Given the description of an element on the screen output the (x, y) to click on. 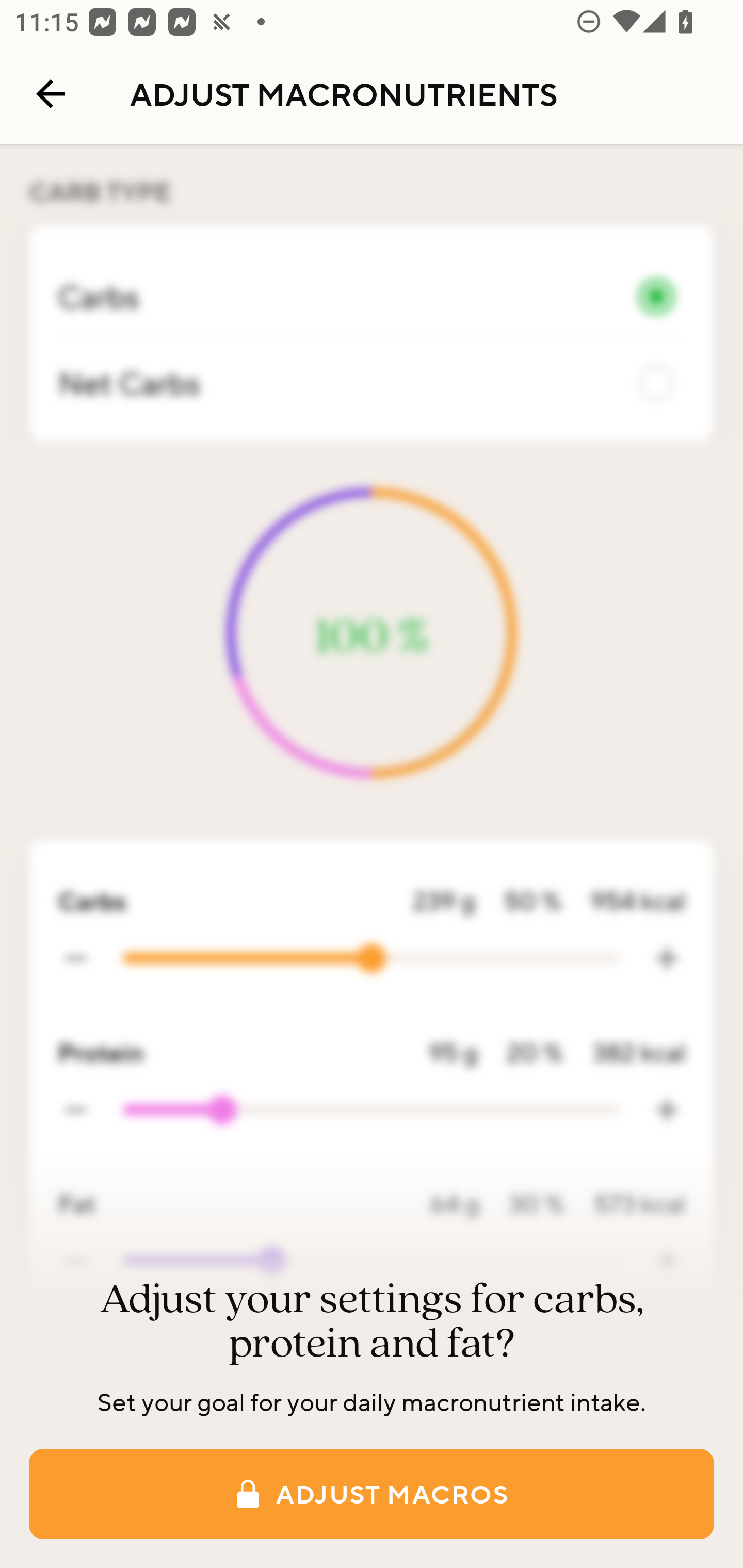
Navigate up (50, 93)
ADJUST MACROS (371, 1493)
